Given the description of an element on the screen output the (x, y) to click on. 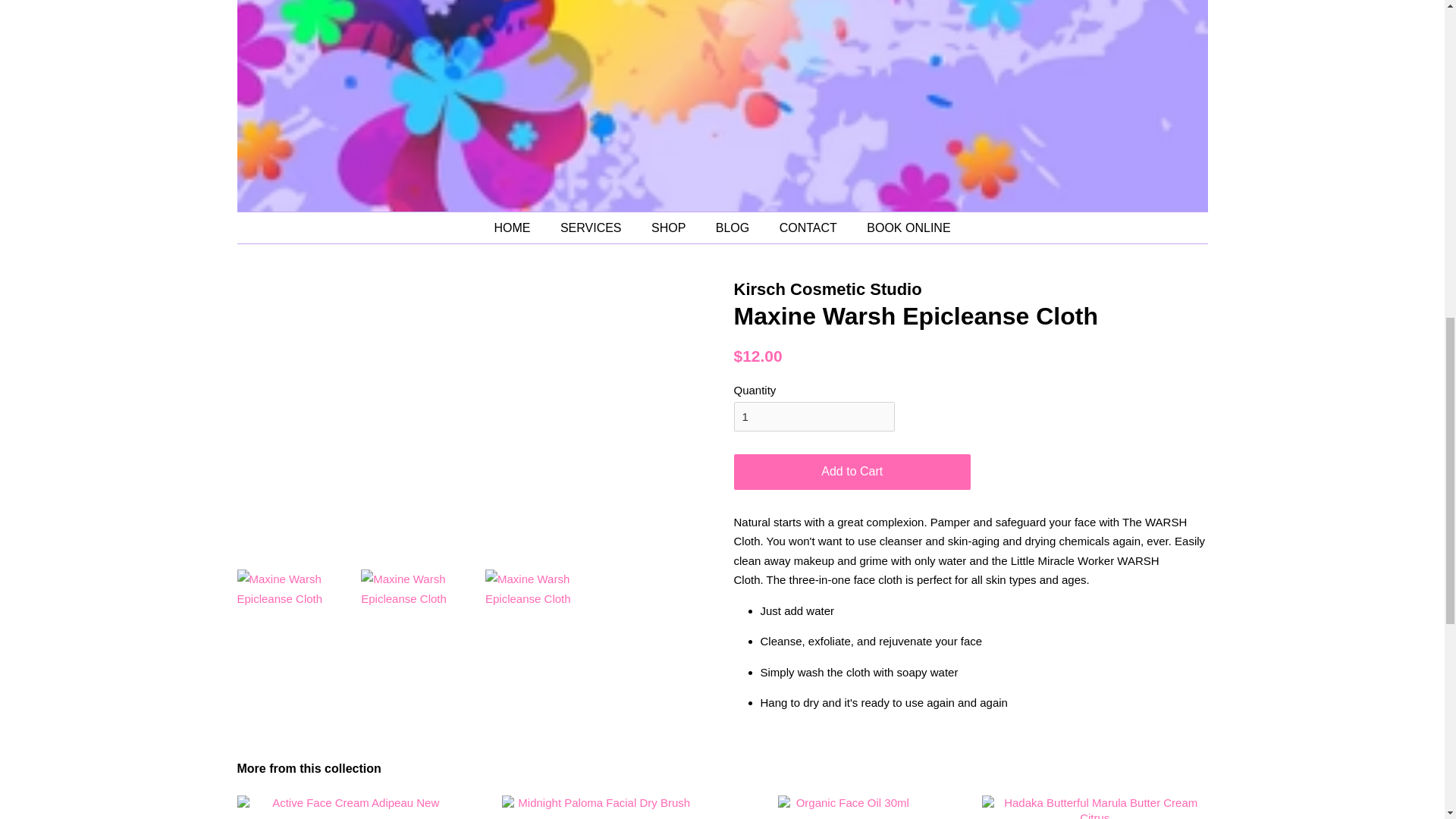
1 (814, 416)
BLOG (734, 227)
SERVICES (592, 227)
CONTACT (809, 227)
SHOP (670, 227)
HOME (518, 227)
